Given the description of an element on the screen output the (x, y) to click on. 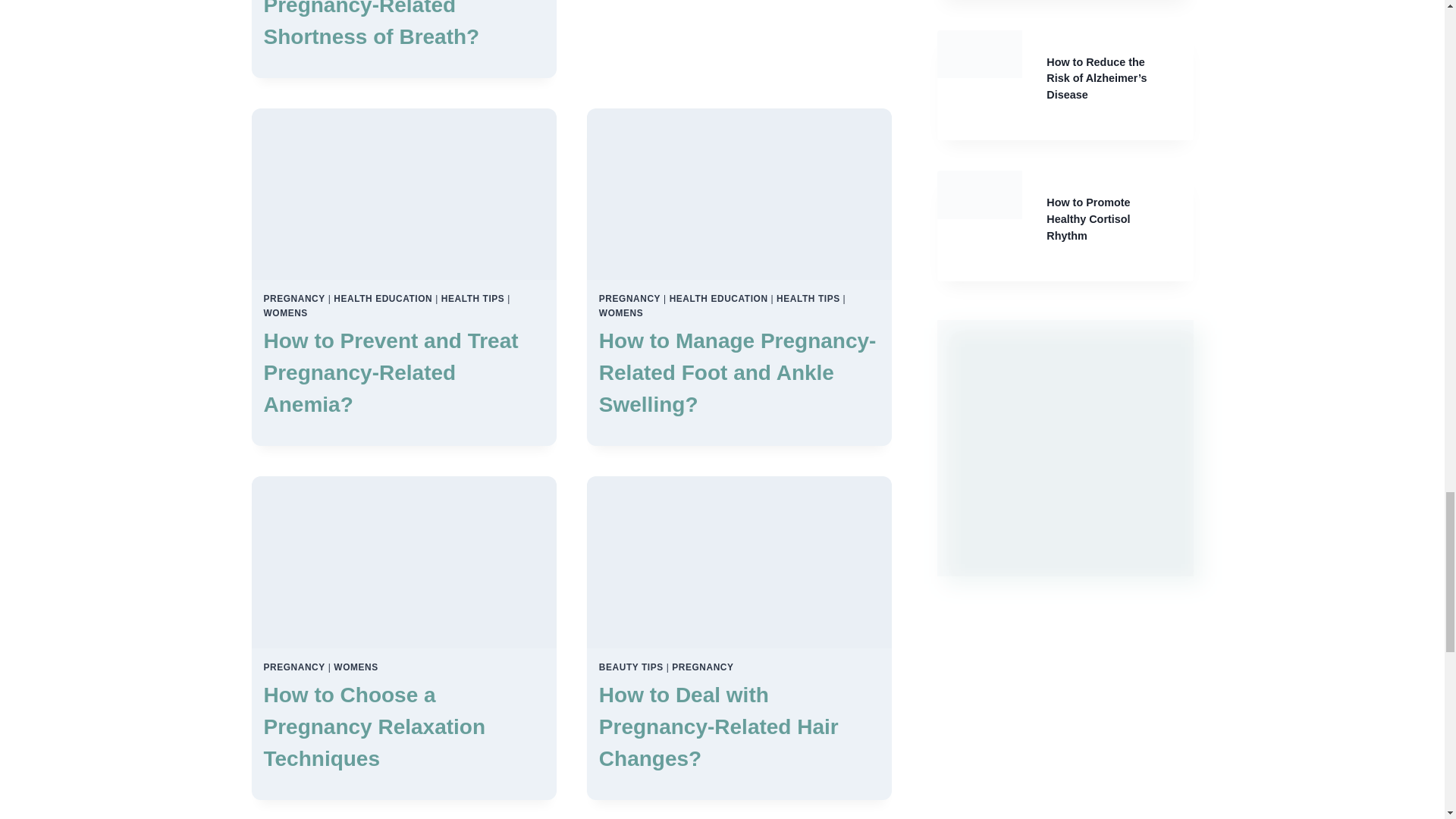
Put Your Ad Here (1065, 447)
